Given the description of an element on the screen output the (x, y) to click on. 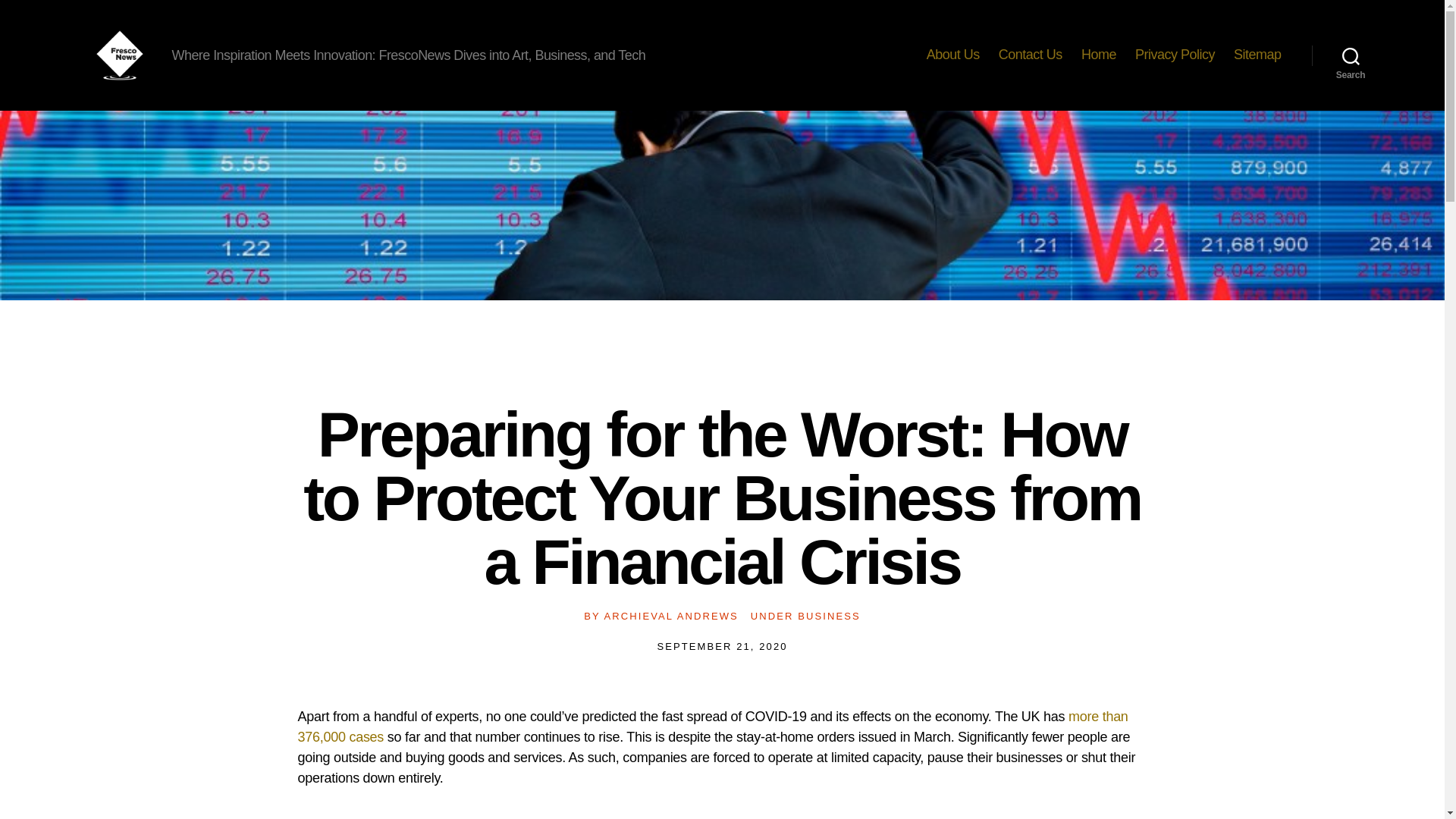
Privacy Policy (1174, 54)
About Us (952, 54)
BUSINESS (828, 615)
more than 376,000 cases (711, 726)
Sitemap (1257, 54)
BY ARCHIEVAL ANDREWS (660, 616)
Contact Us (1030, 54)
Home (1098, 54)
Search (1350, 55)
